Given the description of an element on the screen output the (x, y) to click on. 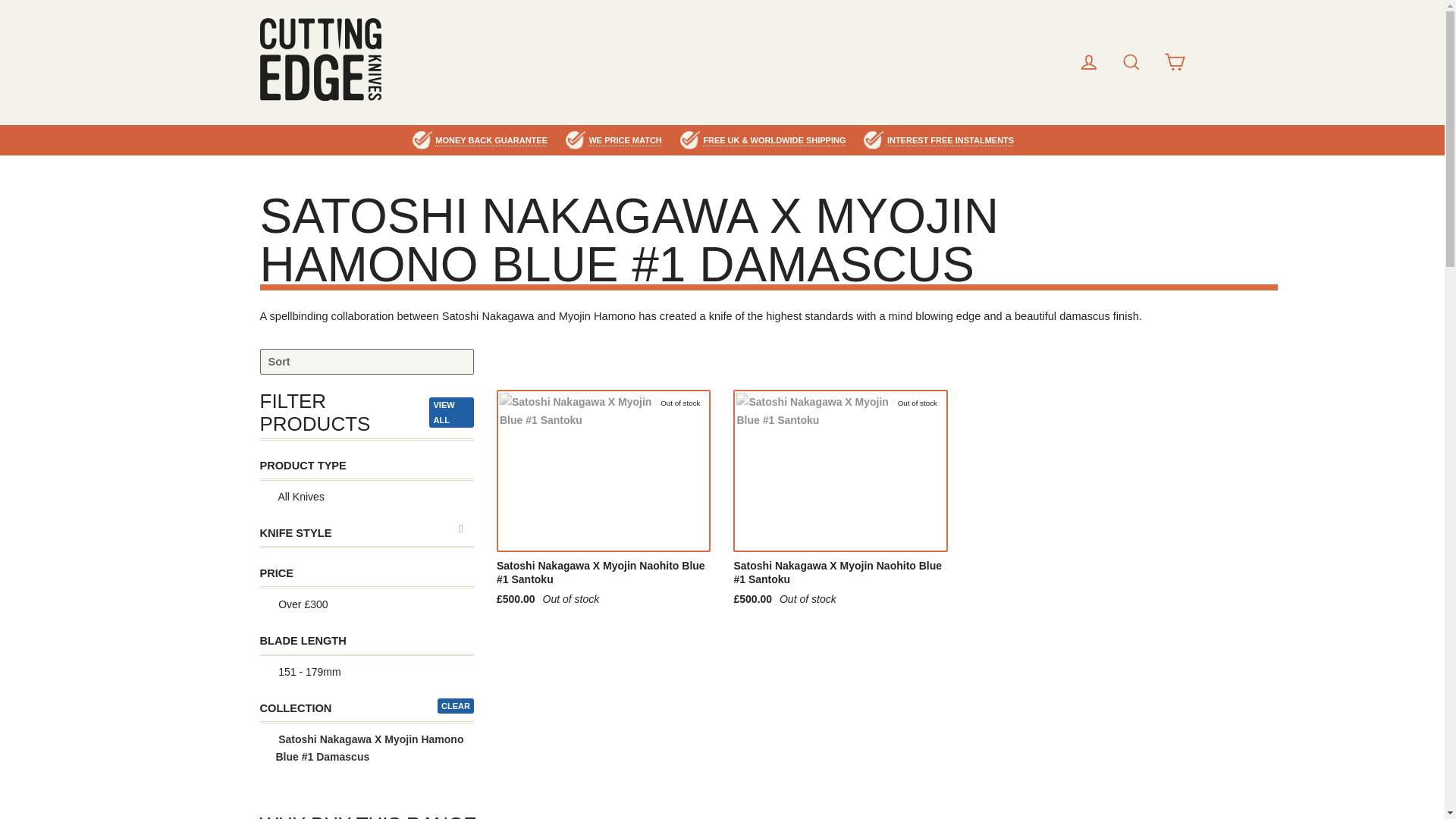
All Knives (366, 497)
Narrow selection to products matching tag size-151-179 (366, 671)
Narrow selection to products matching tag all-knives (366, 497)
151 - 179mm (366, 673)
Narrow selection to products matching tag over-300 (366, 604)
Order in confidence with our money back guarantee (491, 139)
